Given the description of an element on the screen output the (x, y) to click on. 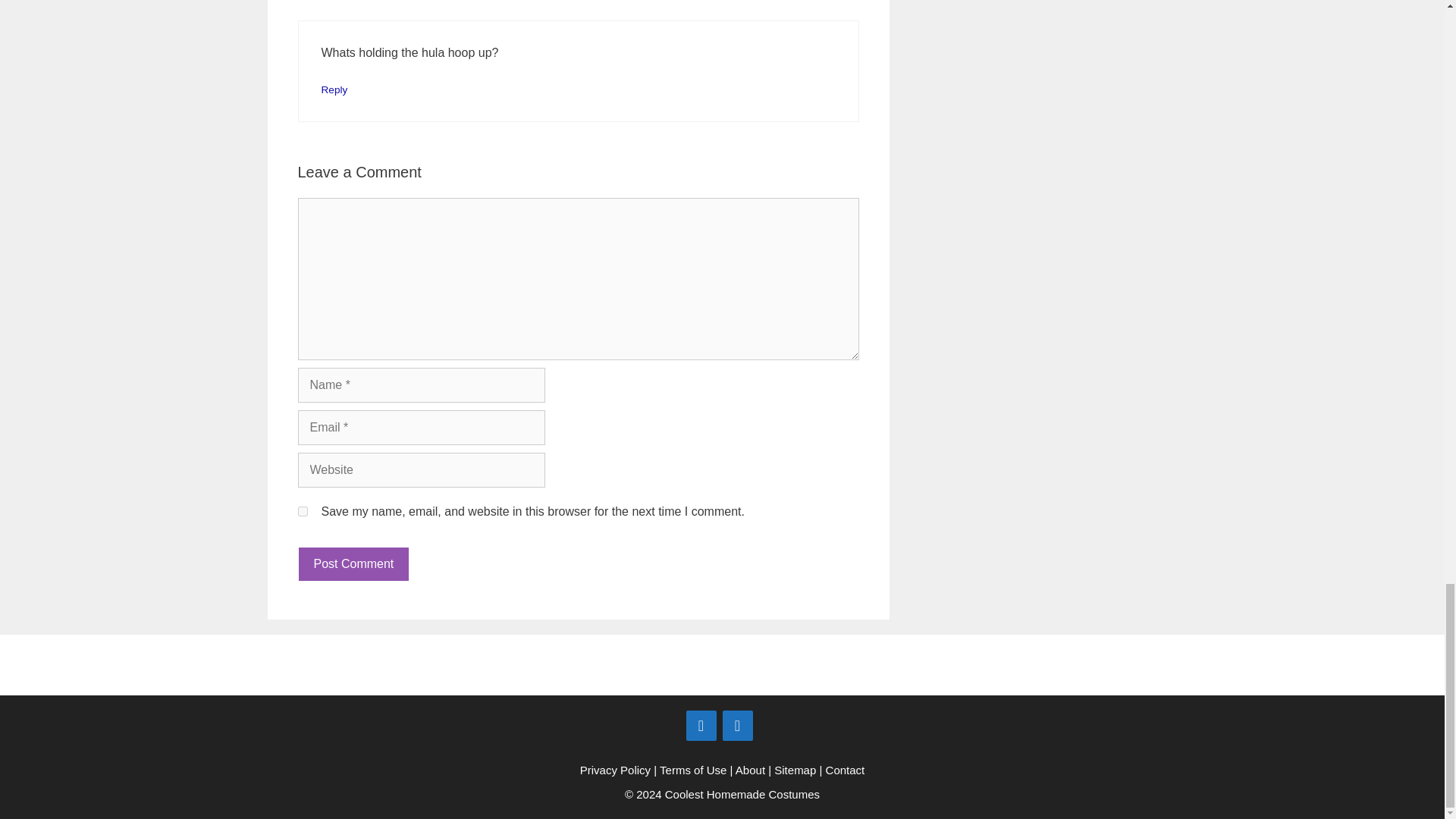
yes (302, 511)
Instagram (737, 725)
Facebook (700, 725)
Post Comment (353, 564)
